Given the description of an element on the screen output the (x, y) to click on. 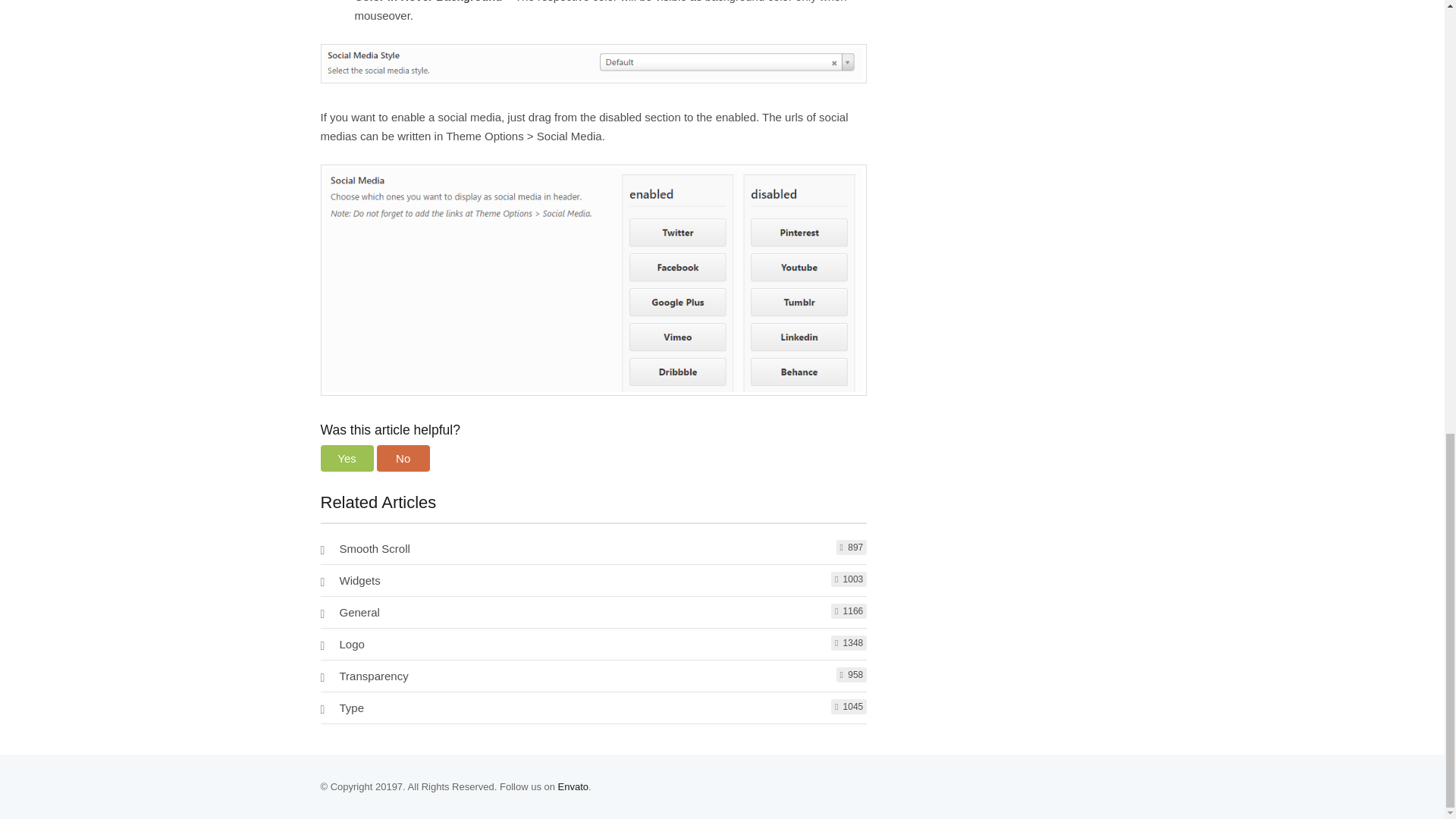
Logo (352, 644)
Type (352, 707)
General (359, 612)
No (403, 458)
Envato (572, 786)
Logo (352, 644)
Yes (346, 458)
Smooth Scroll (374, 548)
Transparency (374, 675)
General (359, 612)
Type (352, 707)
Widgets (359, 580)
Smooth Scroll (374, 548)
Transparency (374, 675)
Widgets (359, 580)
